Given the description of an element on the screen output the (x, y) to click on. 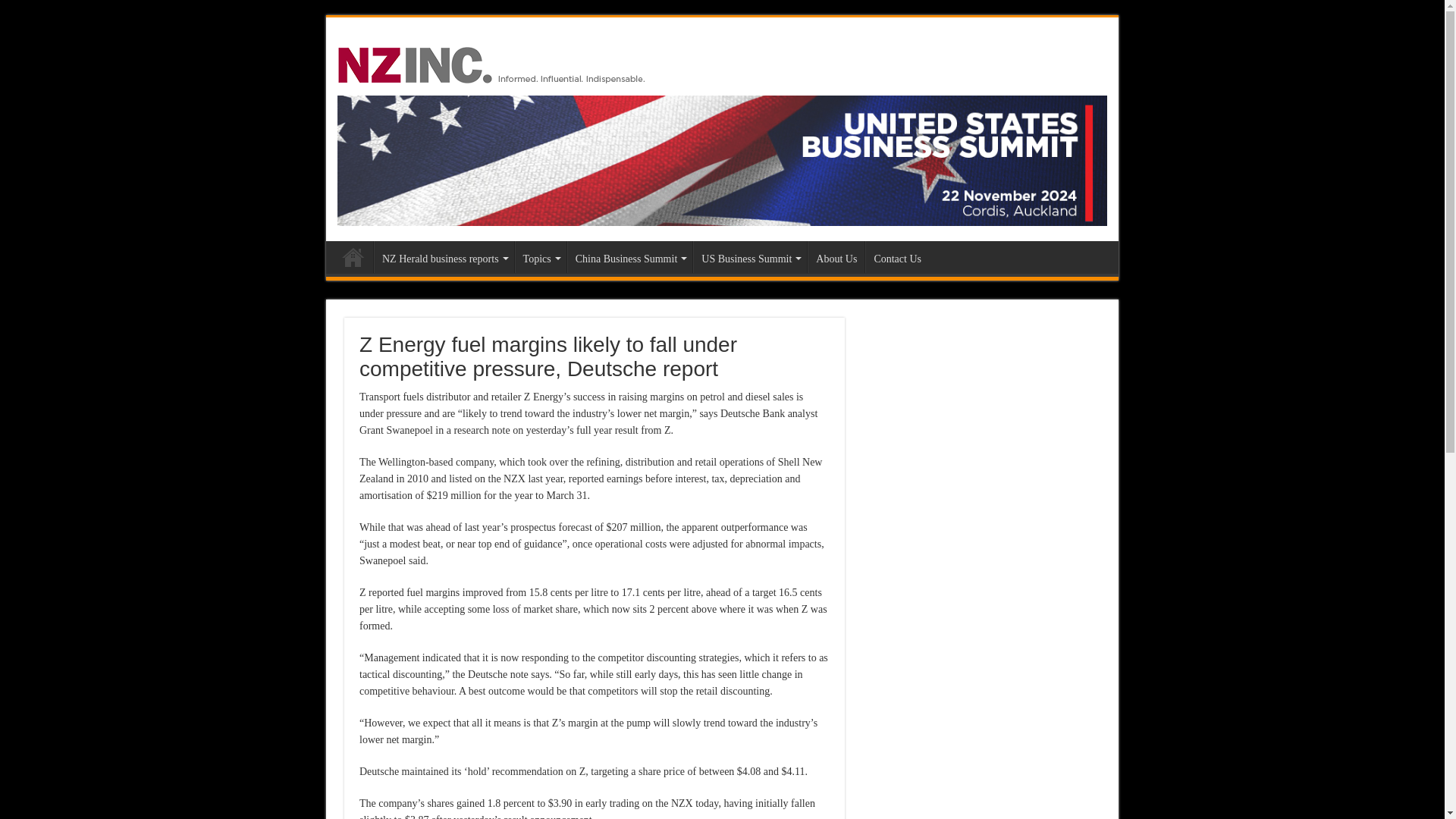
Home (352, 256)
newzealandinc.com (493, 62)
US Business Summit (721, 159)
NZ Herald business reports (443, 256)
